Given the description of an element on the screen output the (x, y) to click on. 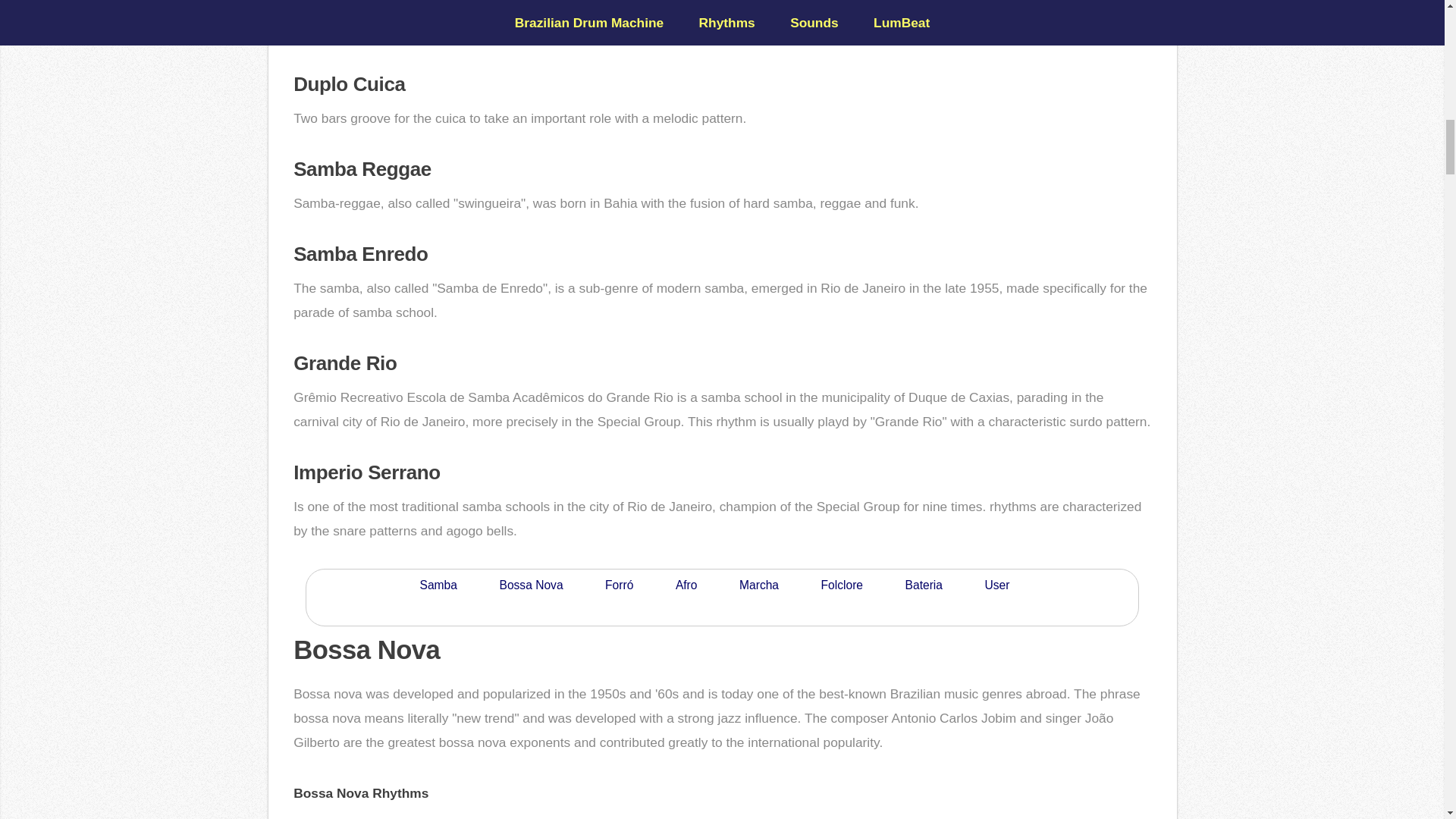
Marcha (758, 584)
Samba (437, 584)
Bossa Nova (531, 584)
Afro (686, 584)
